Given the description of an element on the screen output the (x, y) to click on. 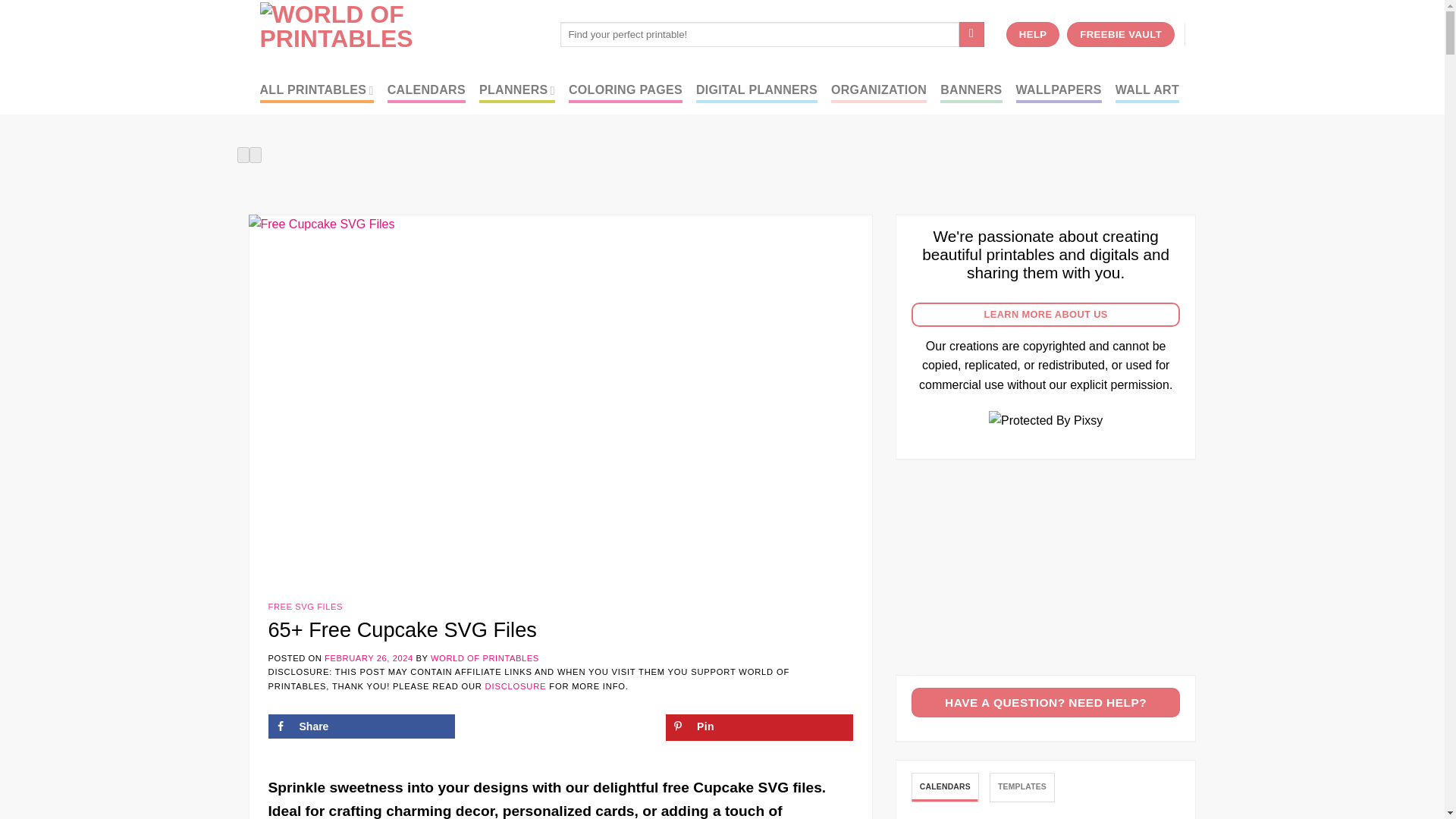
ALL PRINTABLES (315, 90)
Save to Pinterest (759, 727)
Share on Facebook (361, 726)
FREEBIE VAULT (1120, 34)
CALENDARS (426, 90)
PLANNERS (516, 90)
Search (971, 34)
HELP (1032, 34)
Share on X (560, 726)
